Given the description of an element on the screen output the (x, y) to click on. 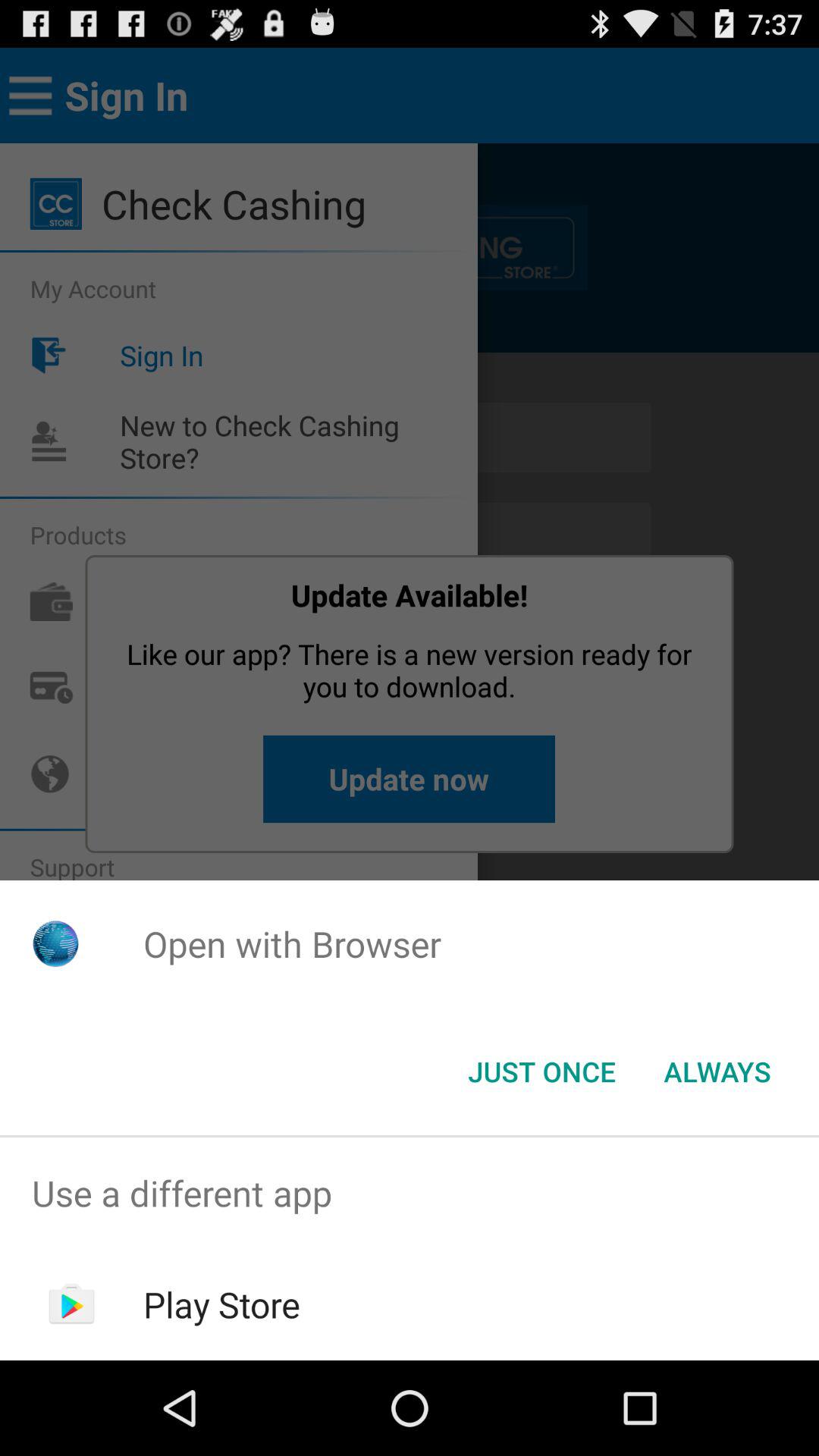
launch the button at the bottom right corner (717, 1071)
